Given the description of an element on the screen output the (x, y) to click on. 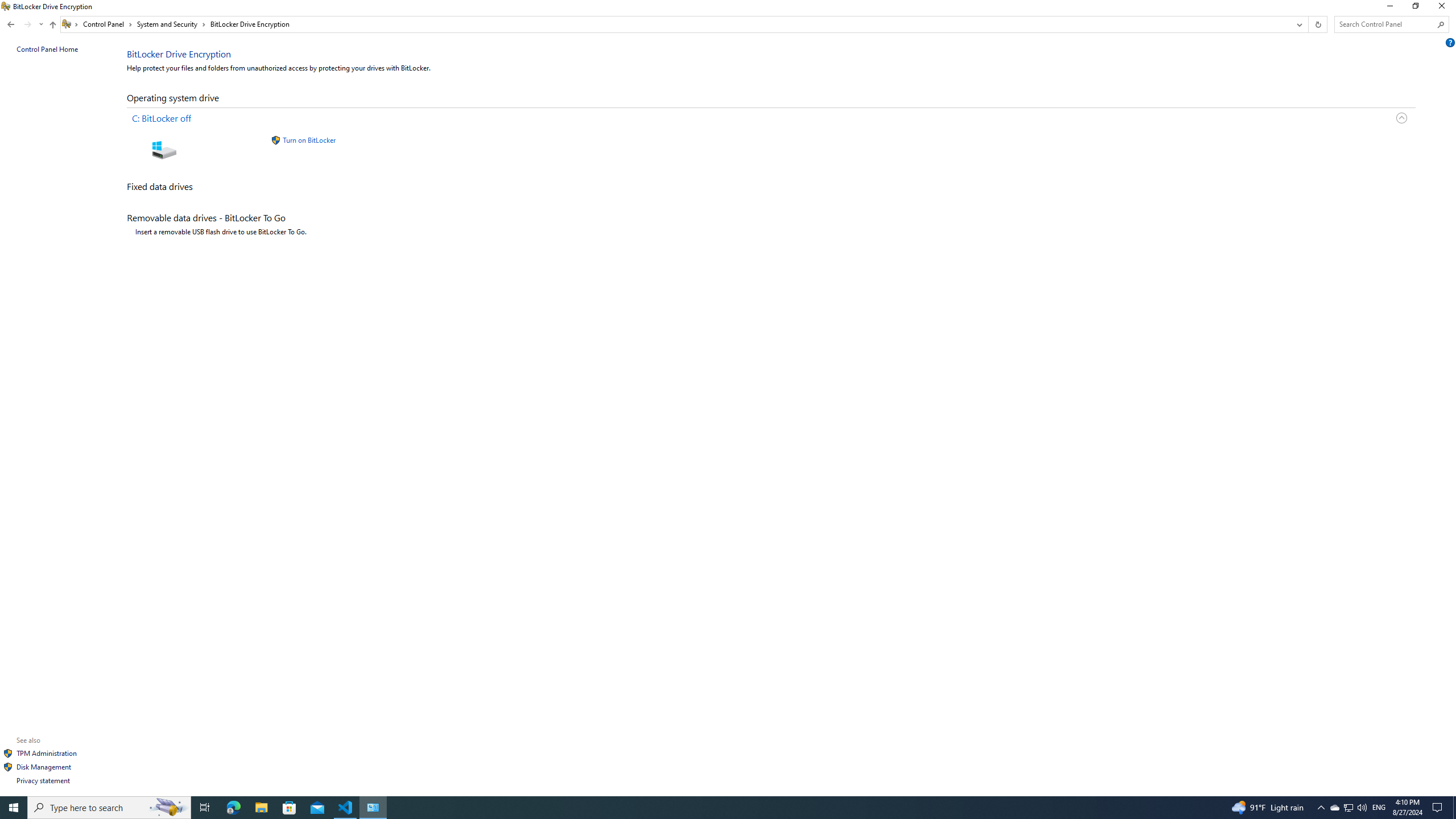
Up band toolbar (52, 26)
Visual Studio Code - 1 running window (1347, 807)
Start (345, 807)
Type here to search (13, 807)
Toggle Drives (108, 807)
File Explorer (1401, 117)
